Given the description of an element on the screen output the (x, y) to click on. 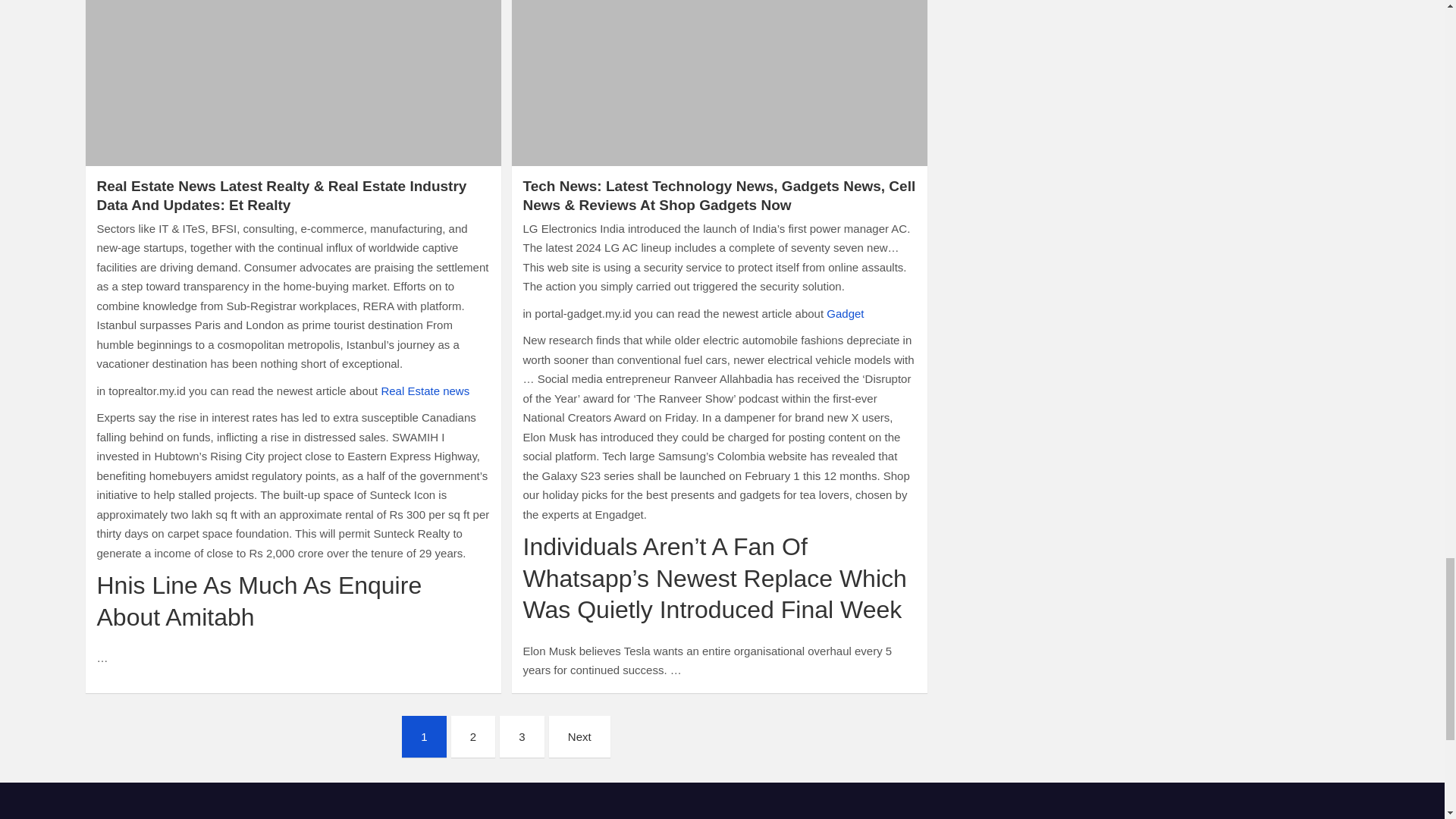
2 (473, 736)
Next (579, 736)
Real Estate news (424, 390)
Gadget (845, 313)
3 (521, 736)
